Given the description of an element on the screen output the (x, y) to click on. 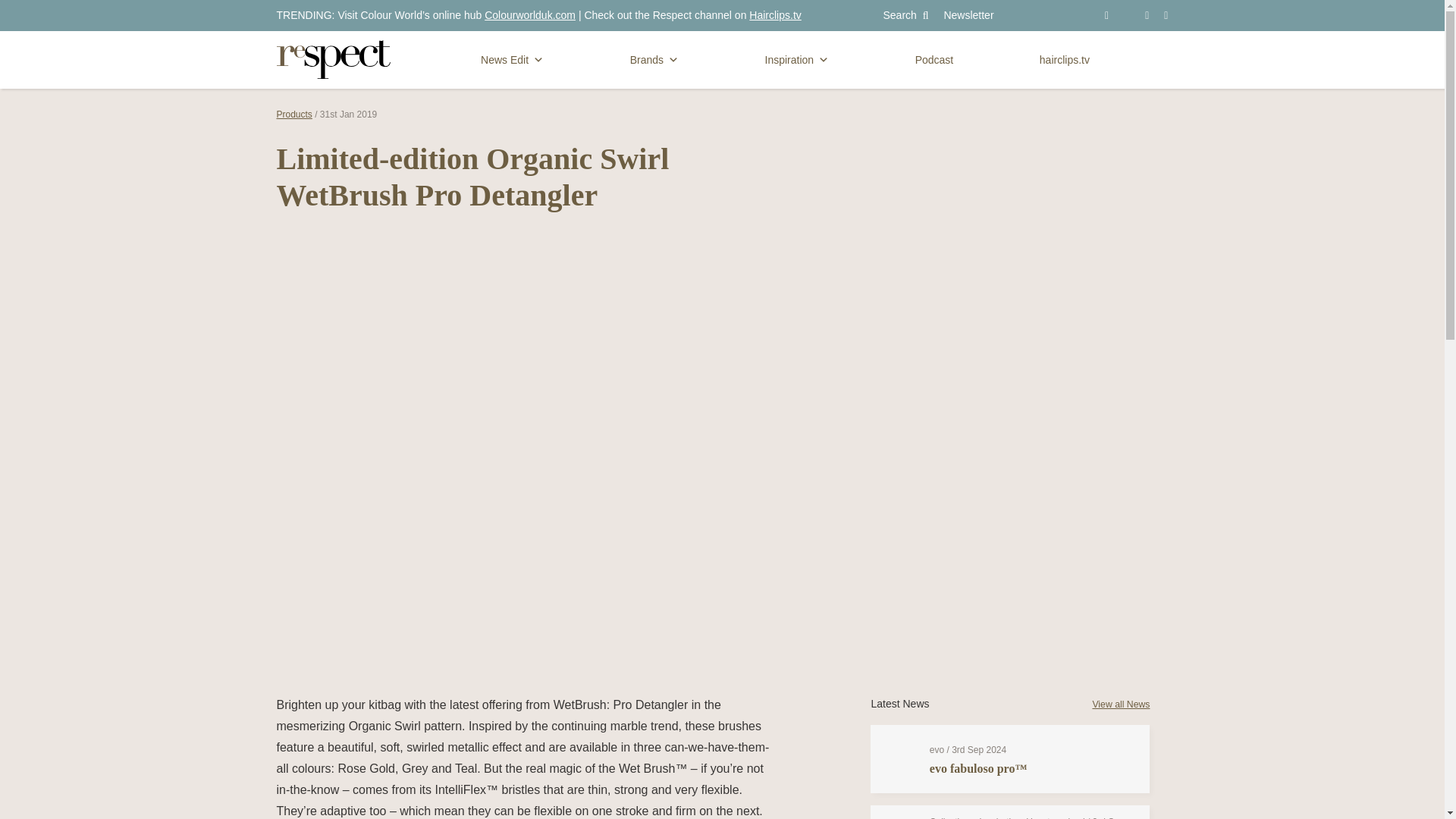
Search (905, 15)
Inspiration (797, 60)
Newsletter (967, 15)
Hairclips.tv (774, 15)
Colourworlduk.com (529, 15)
Brands (654, 60)
News Edit (512, 60)
